Given the description of an element on the screen output the (x, y) to click on. 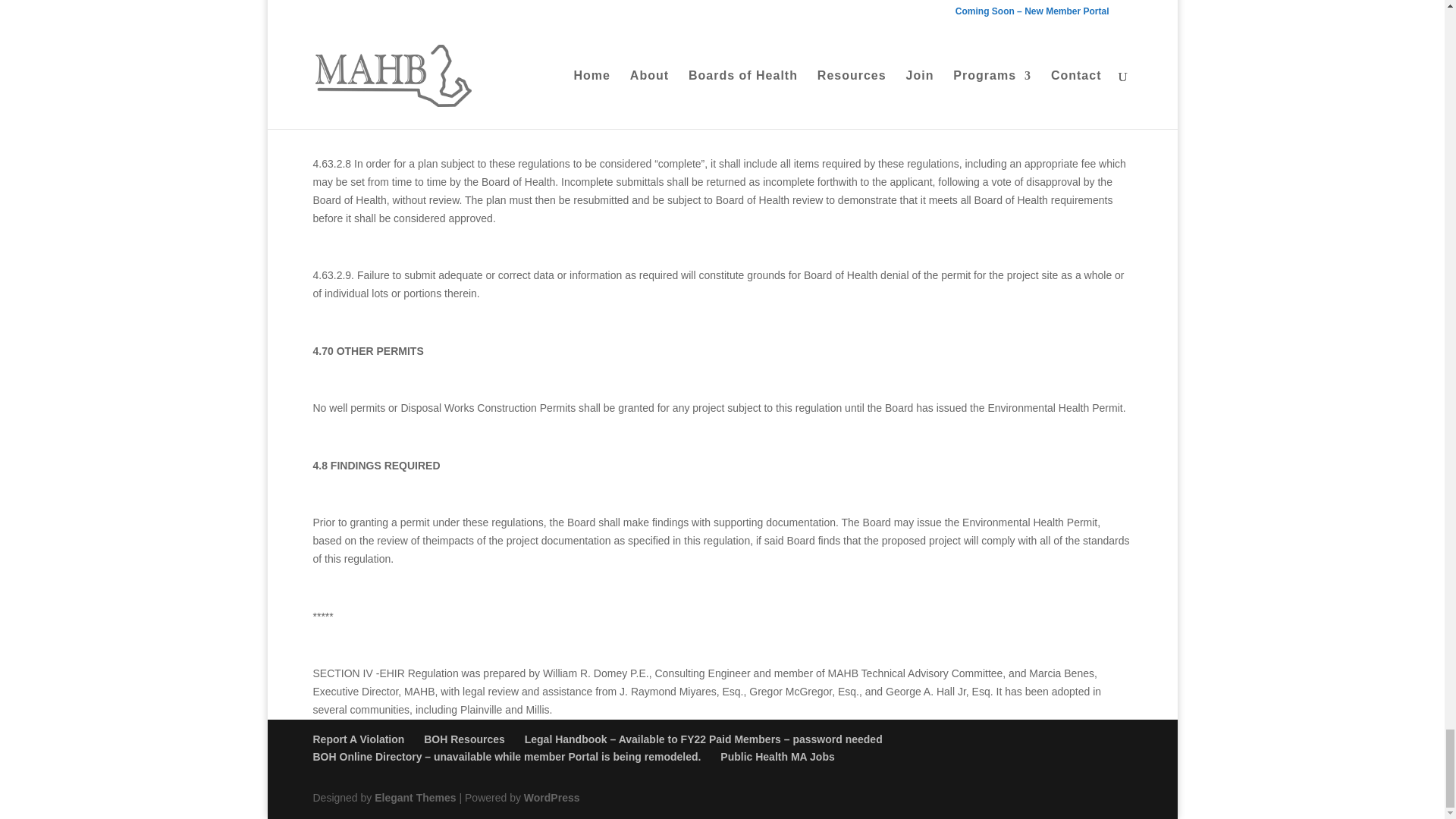
BOH Resources (464, 739)
Elegant Themes (414, 797)
WordPress (551, 797)
Public Health MA Jobs (777, 756)
Premium WordPress Themes (414, 797)
Report A Violation (358, 739)
